Given the description of an element on the screen output the (x, y) to click on. 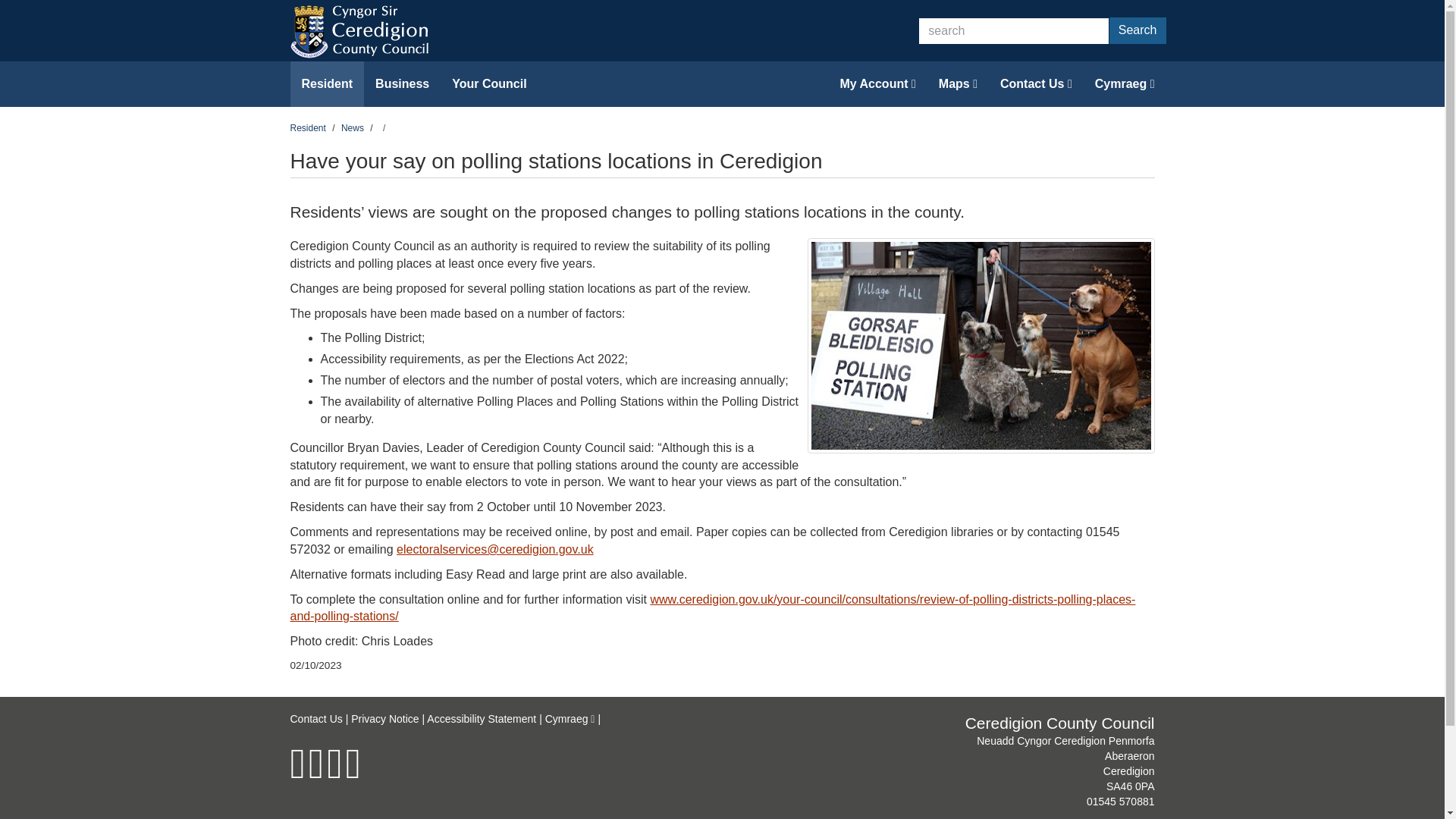
Contact Us (1035, 84)
Twitter (315, 774)
Cymraeg (1124, 84)
Ceredigion County Council (362, 29)
News (352, 127)
Your Council (489, 84)
YouTube (353, 774)
YouTube (353, 774)
My Account (877, 84)
Resident (326, 84)
